Given the description of an element on the screen output the (x, y) to click on. 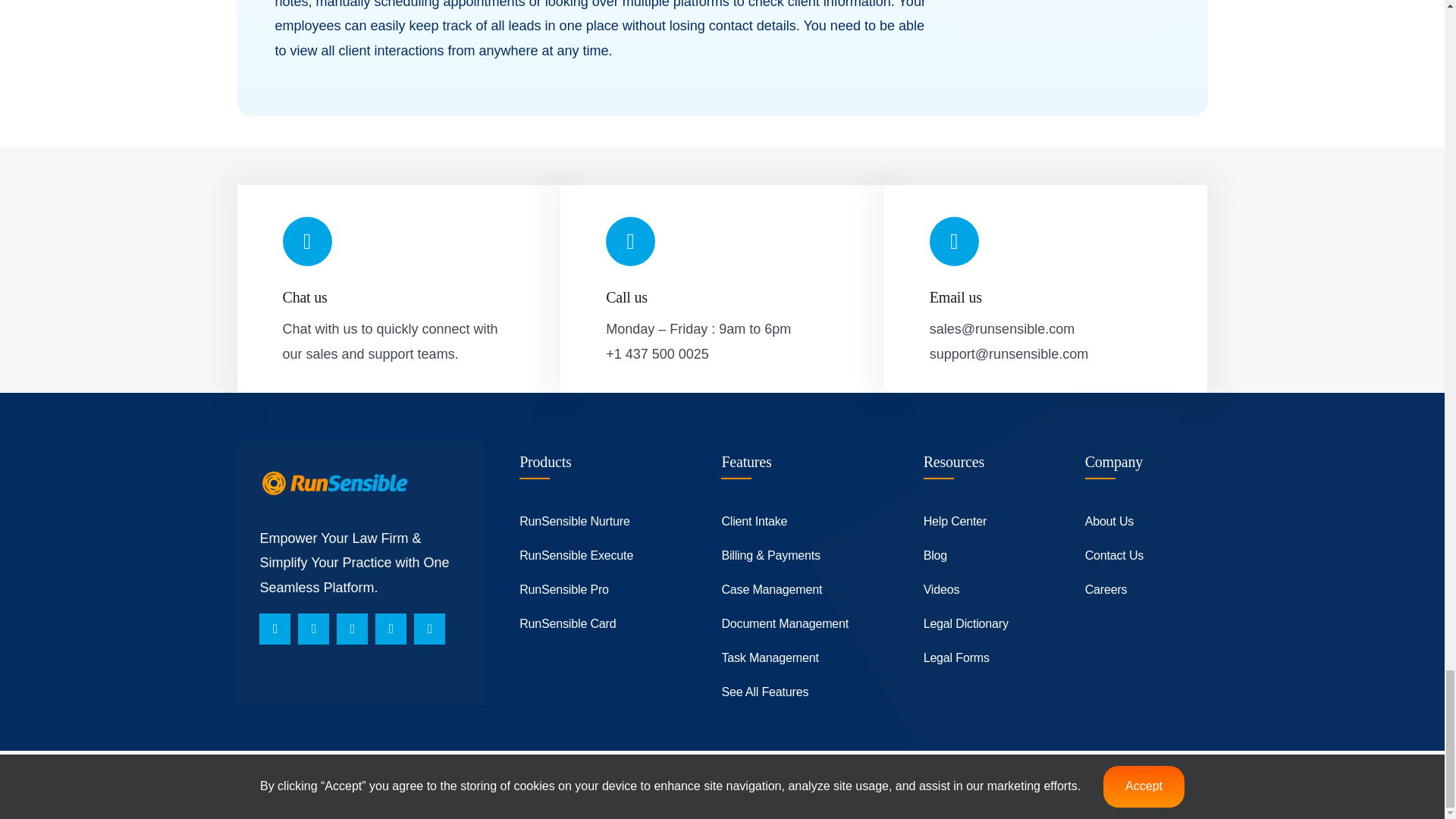
Legal Dictionary (984, 624)
Facebook (274, 628)
Task Management (801, 658)
Document Management (801, 624)
About Us (1146, 521)
Careers (1146, 590)
Terms of Service (574, 771)
Security (760, 771)
Instagram (313, 628)
Blog (984, 555)
